Given the description of an element on the screen output the (x, y) to click on. 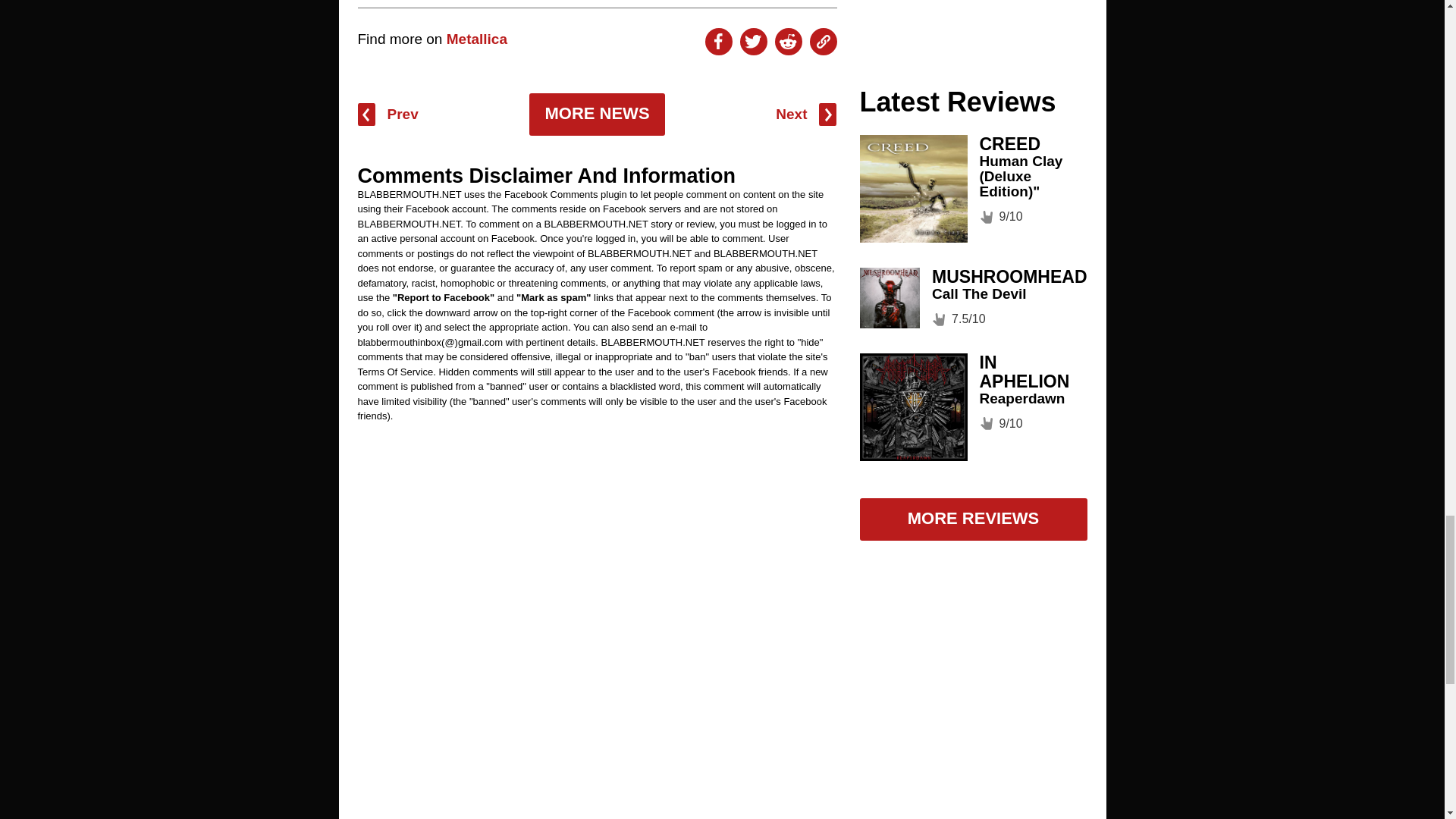
Share On Facebook (718, 41)
Next (805, 114)
Prev (388, 114)
Copy To Clipboard (823, 41)
Share On Reddit (788, 41)
Share On Twitter (753, 41)
Metallica (476, 38)
MORE NEWS (596, 114)
